Given the description of an element on the screen output the (x, y) to click on. 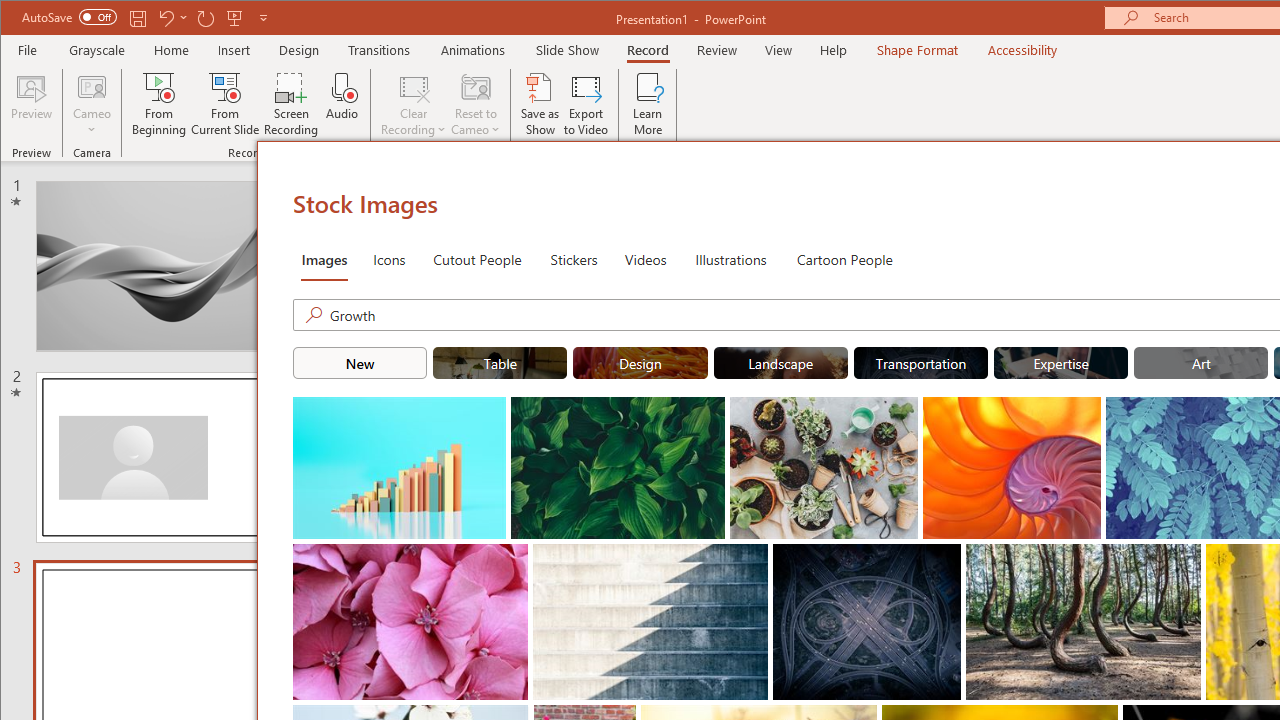
Grayscale (97, 50)
